Given the description of an element on the screen output the (x, y) to click on. 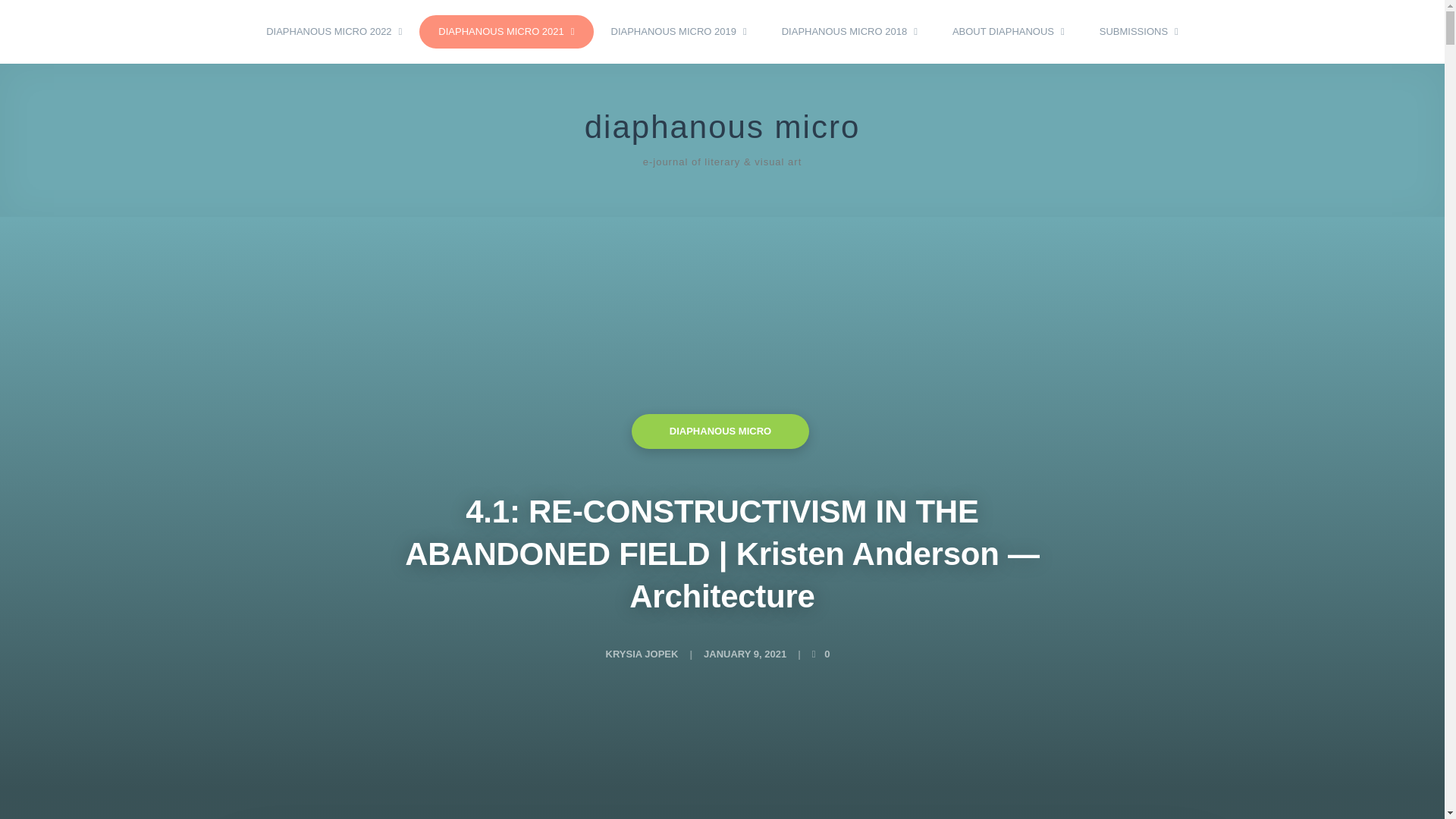
posted on January 9, 2021 (744, 654)
See articles from category - diaphanous micro (720, 431)
Posted by   (641, 654)
